Given the description of an element on the screen output the (x, y) to click on. 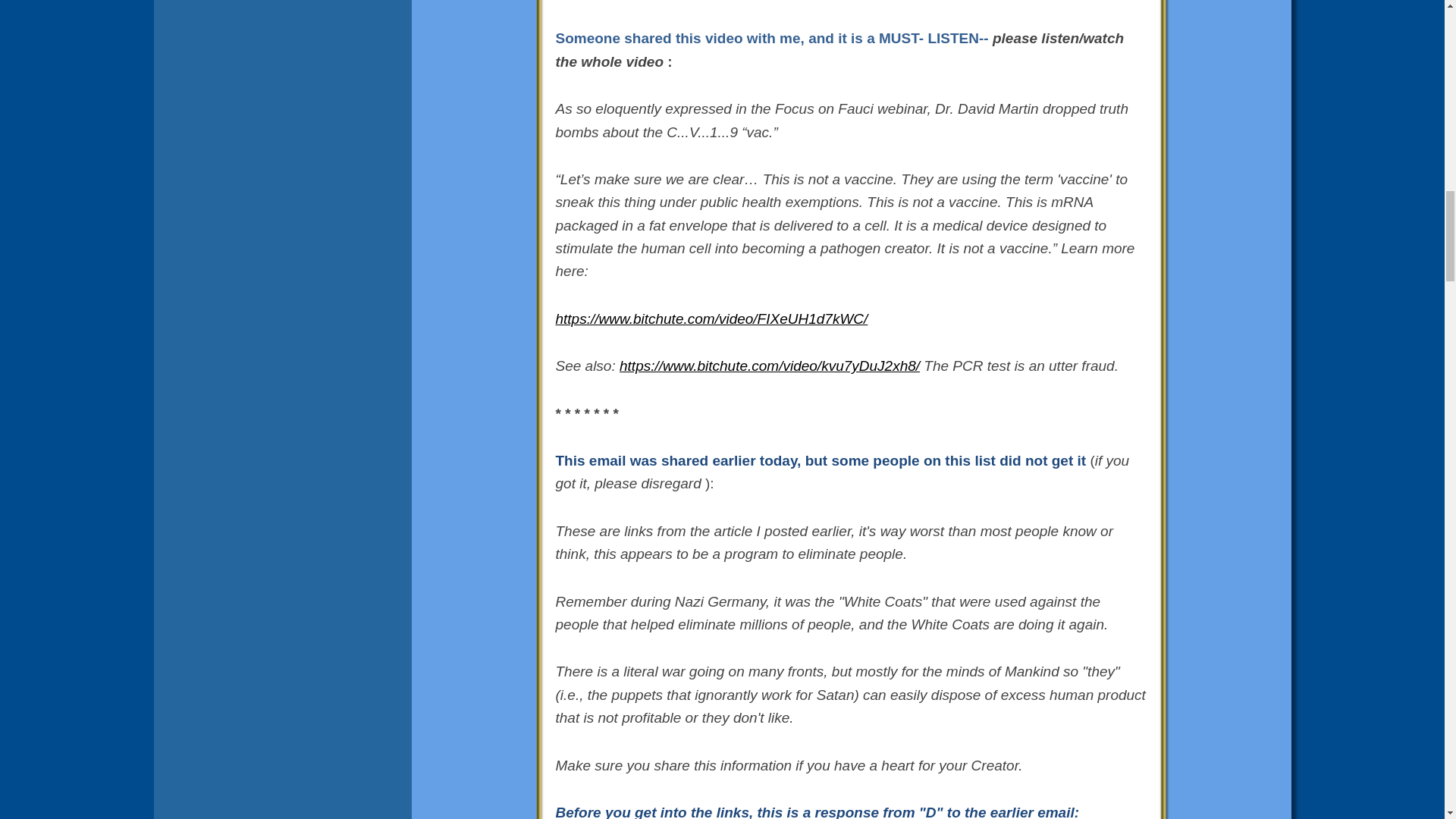
today (778, 460)
